Given the description of an element on the screen output the (x, y) to click on. 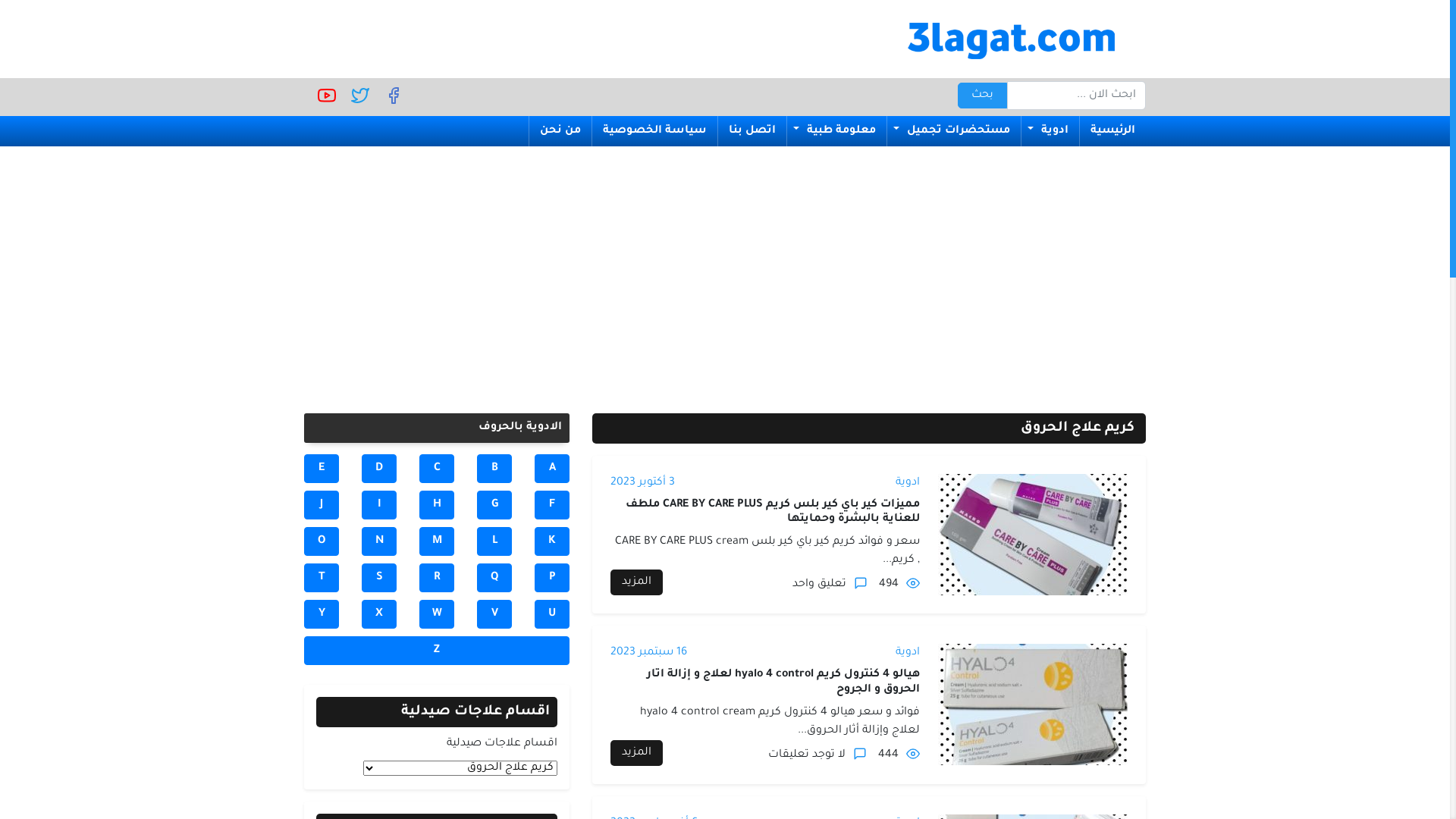
V Element type: text (493, 613)
P Element type: text (551, 577)
Advertisement Element type: hover (724, 270)
E Element type: text (321, 468)
J Element type: text (321, 504)
M Element type: text (436, 541)
K Element type: text (551, 541)
W Element type: text (436, 613)
F Element type: text (551, 504)
S Element type: text (378, 577)
U Element type: text (551, 613)
R Element type: text (436, 577)
B Element type: text (493, 468)
L Element type: text (493, 541)
A Element type: text (551, 468)
D Element type: text (378, 468)
T Element type: text (321, 577)
O Element type: text (321, 541)
Y Element type: text (321, 613)
C Element type: text (436, 468)
I Element type: text (378, 504)
G Element type: text (493, 504)
X Element type: text (378, 613)
Q Element type: text (493, 577)
H Element type: text (436, 504)
Z Element type: text (436, 650)
N Element type: text (378, 541)
